Given the description of an element on the screen output the (x, y) to click on. 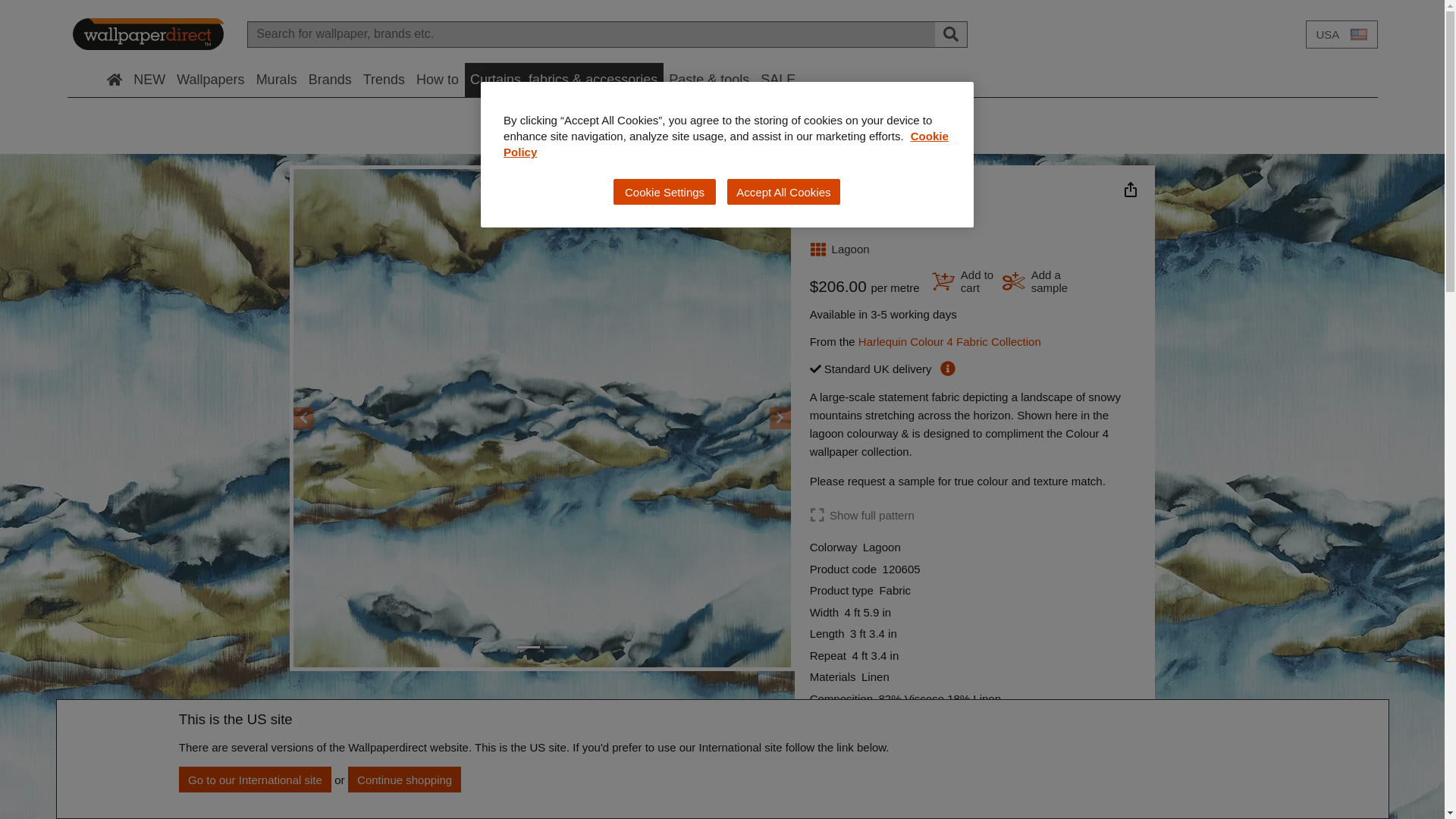
More about delivery options (947, 368)
Search (950, 33)
Wallpaper Direct (148, 33)
Home (114, 79)
USA (1340, 33)
Search (950, 33)
Share this product (1130, 189)
Search (950, 34)
NEW (149, 80)
Wallpapers (210, 80)
Home (114, 79)
Wallpaper Direct (148, 34)
